Given the description of an element on the screen output the (x, y) to click on. 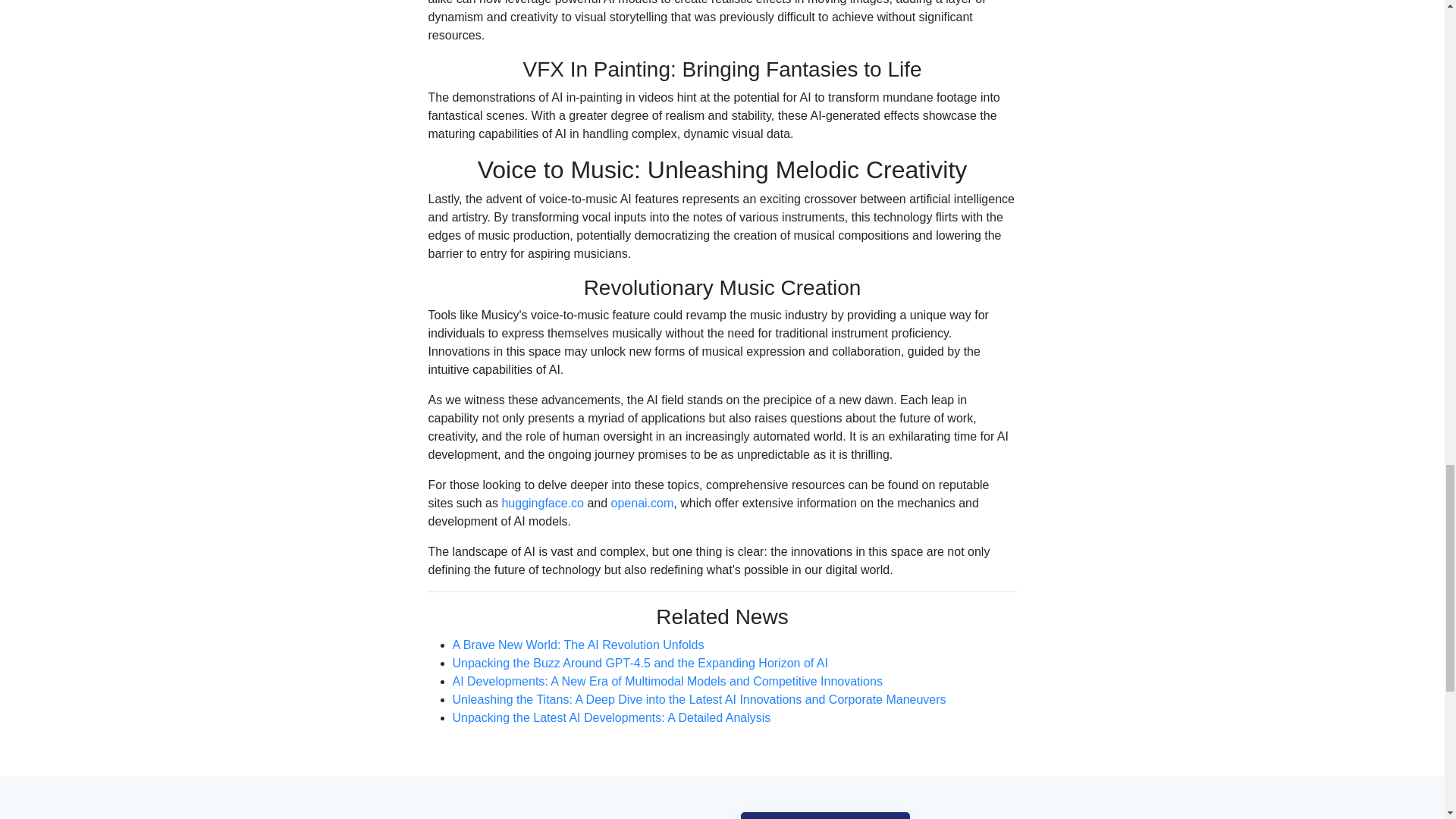
A Brave New World: The AI Revolution Unfolds (577, 671)
openai.com (642, 533)
Unpacking the Latest AI Developments: A Detailed Analysis (610, 733)
Create Free Account (825, 815)
huggingface.co (541, 538)
